Given the description of an element on the screen output the (x, y) to click on. 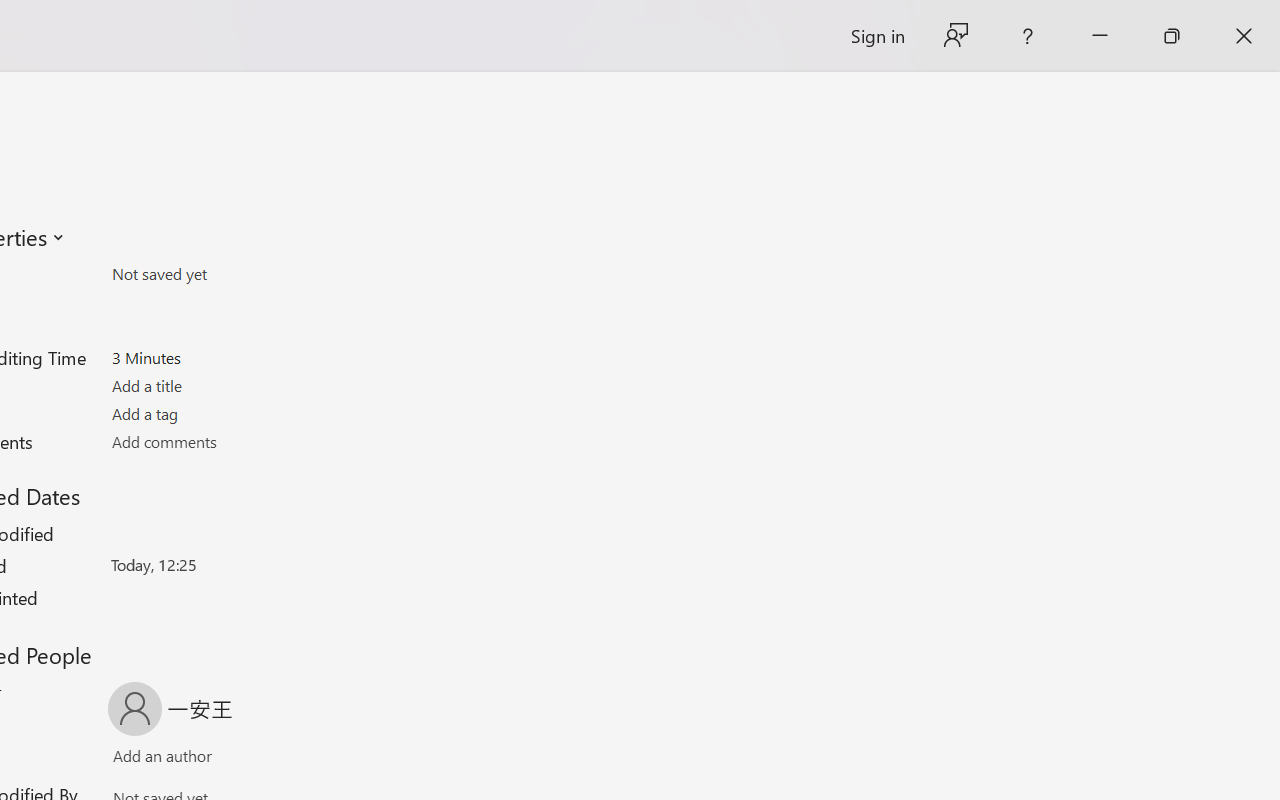
Browse Address Book (291, 760)
